Given the description of an element on the screen output the (x, y) to click on. 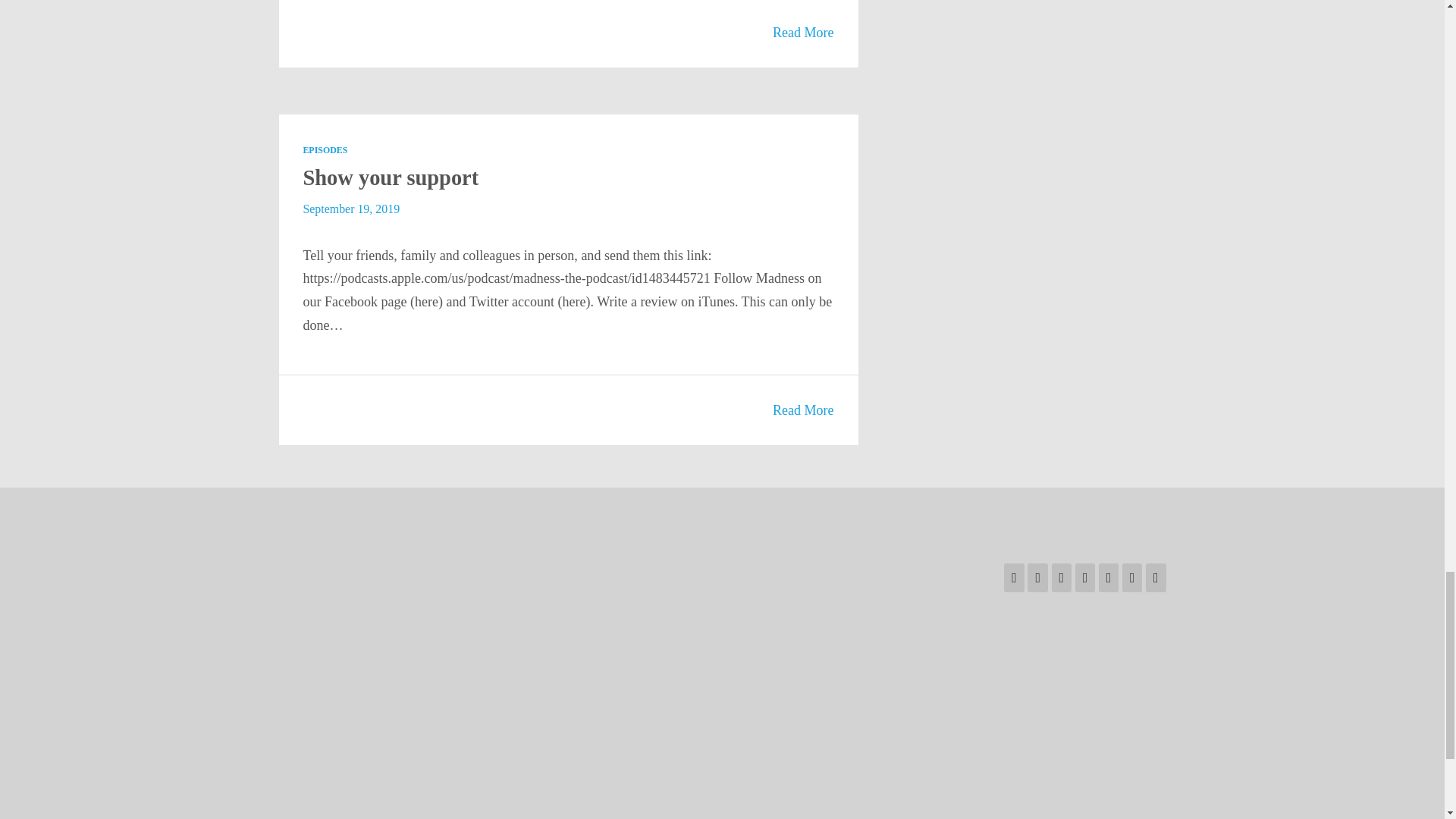
EPISODES (324, 149)
Read More (803, 409)
Permalink to Show your support (390, 177)
Show your support (390, 177)
September 19, 2019 (350, 208)
Read More (803, 32)
